Given the description of an element on the screen output the (x, y) to click on. 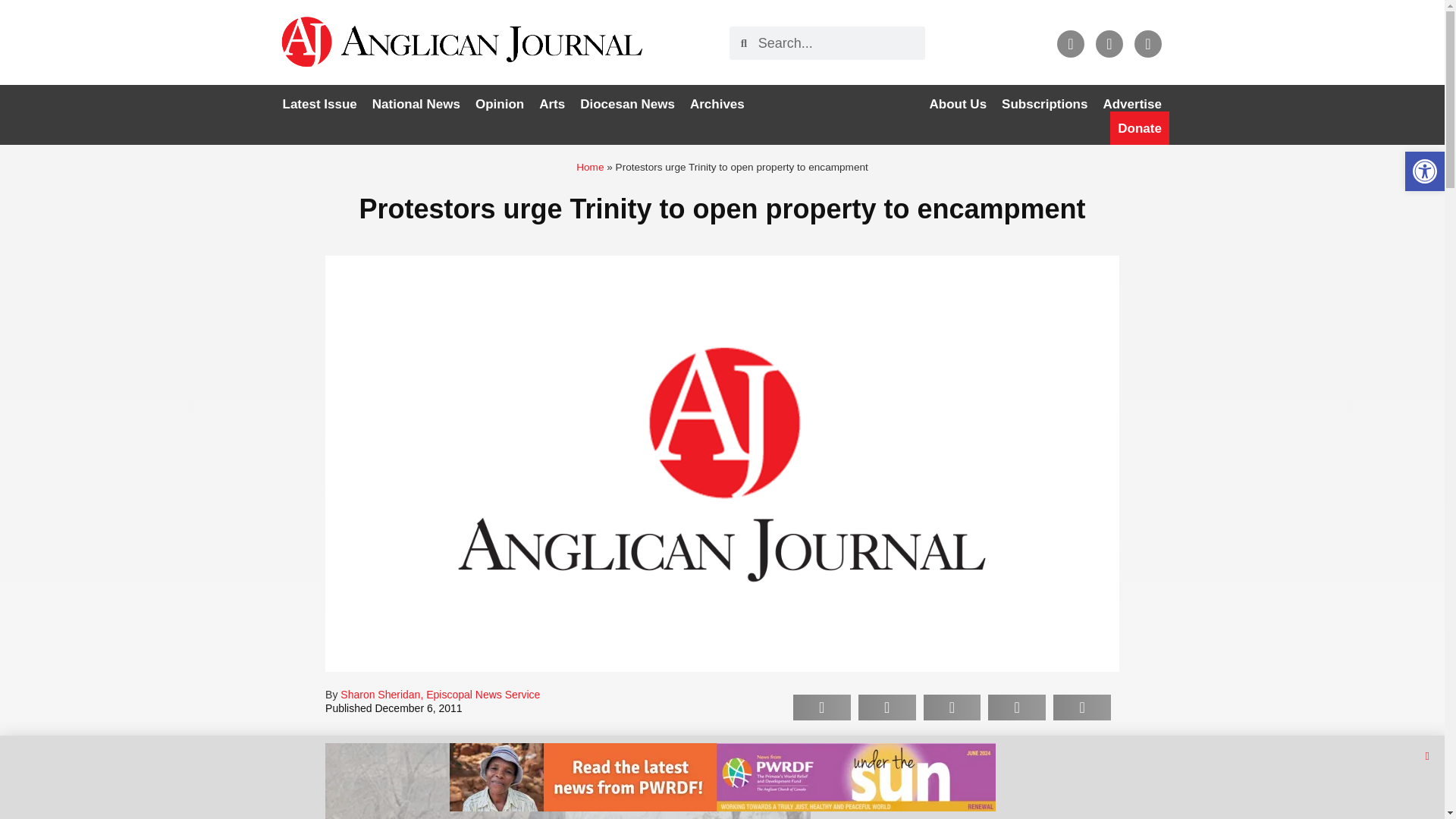
Opinion (499, 104)
Diocesan News (627, 104)
Archives (717, 104)
Accessibility Tools (1424, 170)
Latest Issue (319, 104)
Sharon Sheridan, Episcopal News Service (440, 694)
Arts (551, 104)
National News (416, 104)
